Given the description of an element on the screen output the (x, y) to click on. 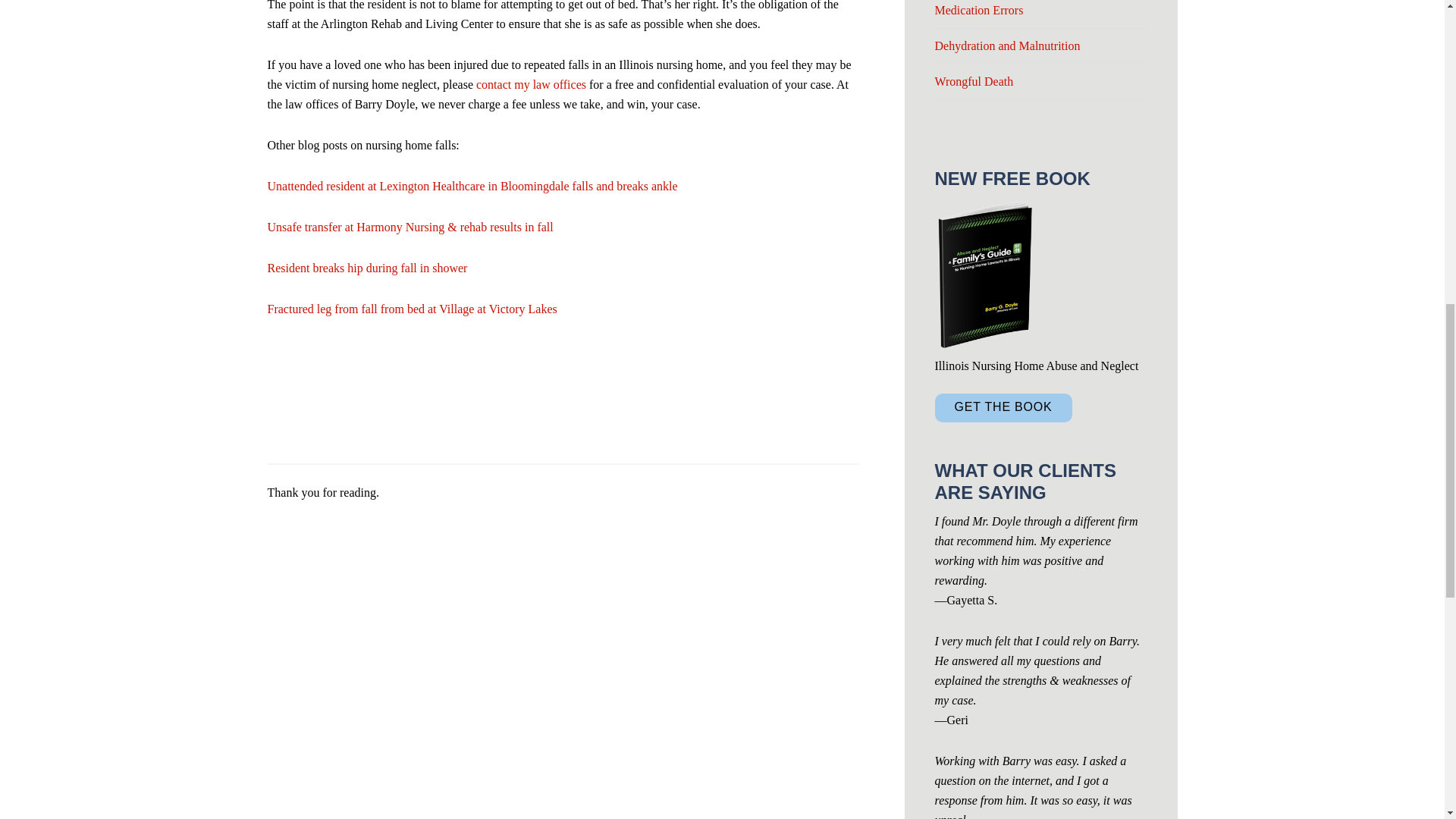
Resident breaks hip during fall in shower (366, 267)
Dehydration and Malnutrition (1007, 45)
Wrongful Death (973, 81)
Fractured leg from fall from bed at Village at Victory Lakes (411, 308)
Medication Errors (978, 10)
contact my law offices (531, 83)
